Given the description of an element on the screen output the (x, y) to click on. 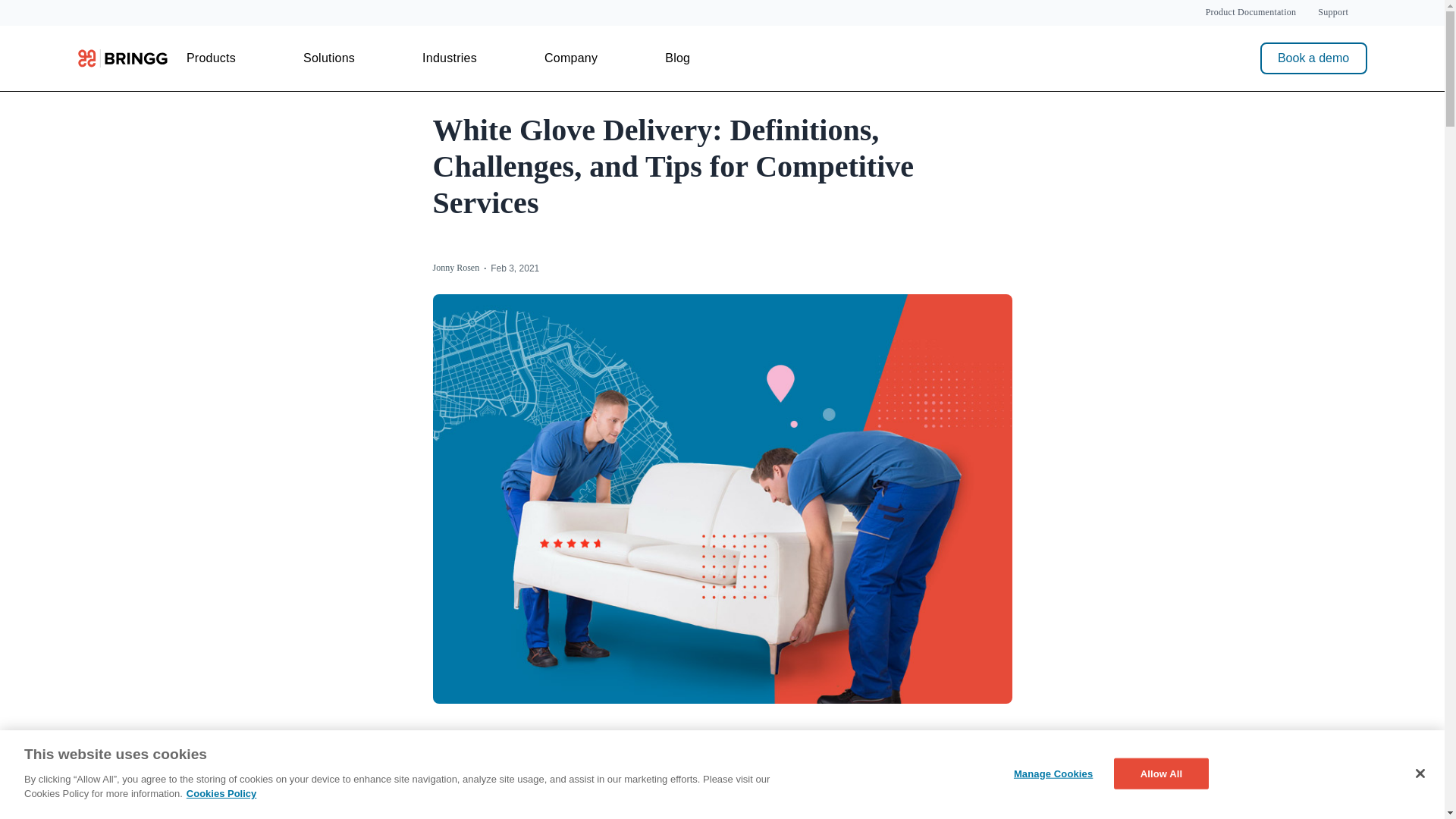
Support (1332, 12)
Solutions (328, 58)
Products (210, 58)
Book a demo (1313, 57)
Product Documentation (1251, 12)
Industries (449, 58)
Company (570, 58)
